Given the description of an element on the screen output the (x, y) to click on. 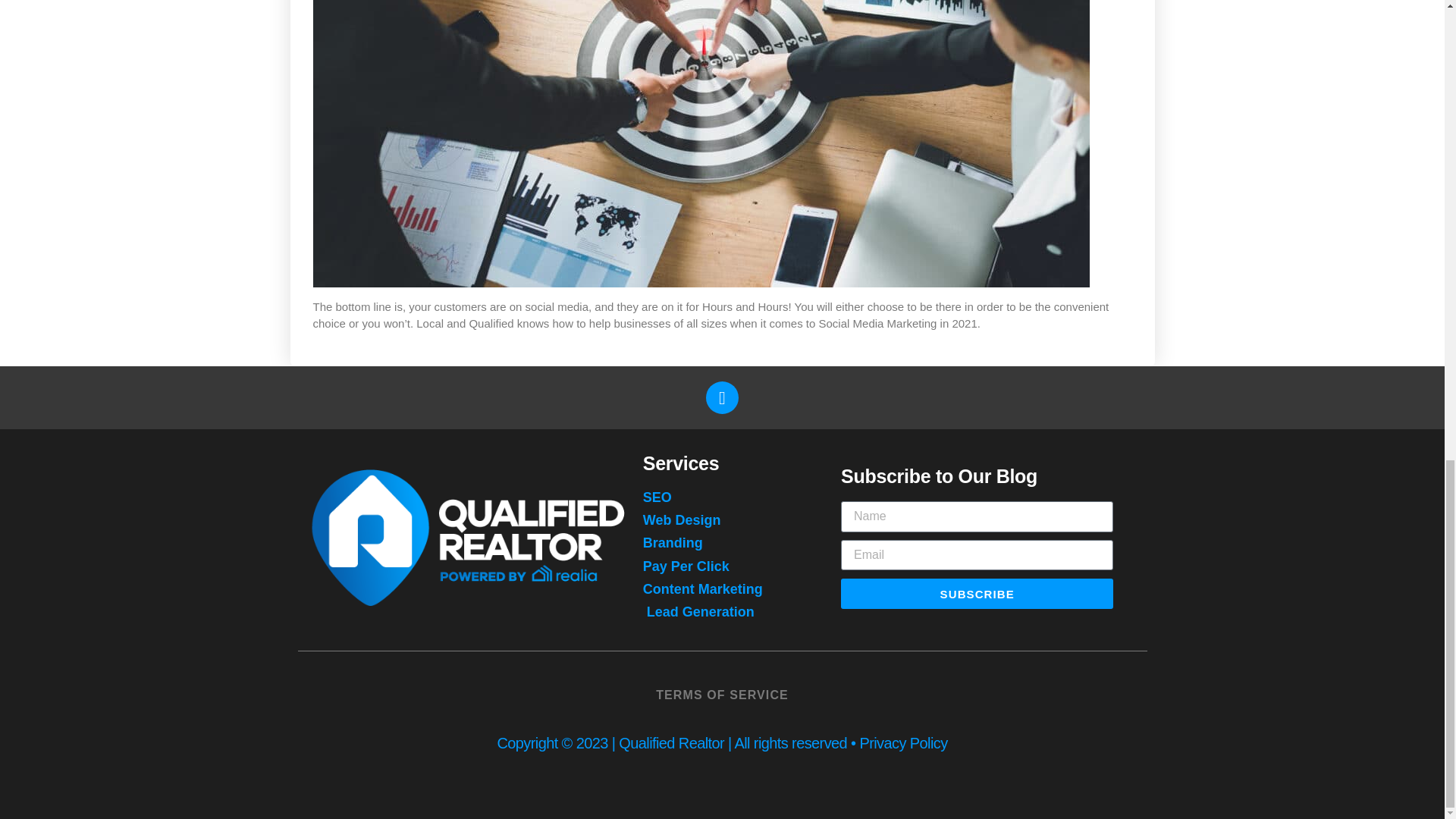
Web Design (723, 520)
Content Marketing (723, 588)
Branding (723, 542)
Lead Generation (723, 611)
SUBSCRIBE (977, 593)
SEO (723, 497)
Pay Per Click (723, 566)
TERMS OF SERVICE (721, 695)
